Given the description of an element on the screen output the (x, y) to click on. 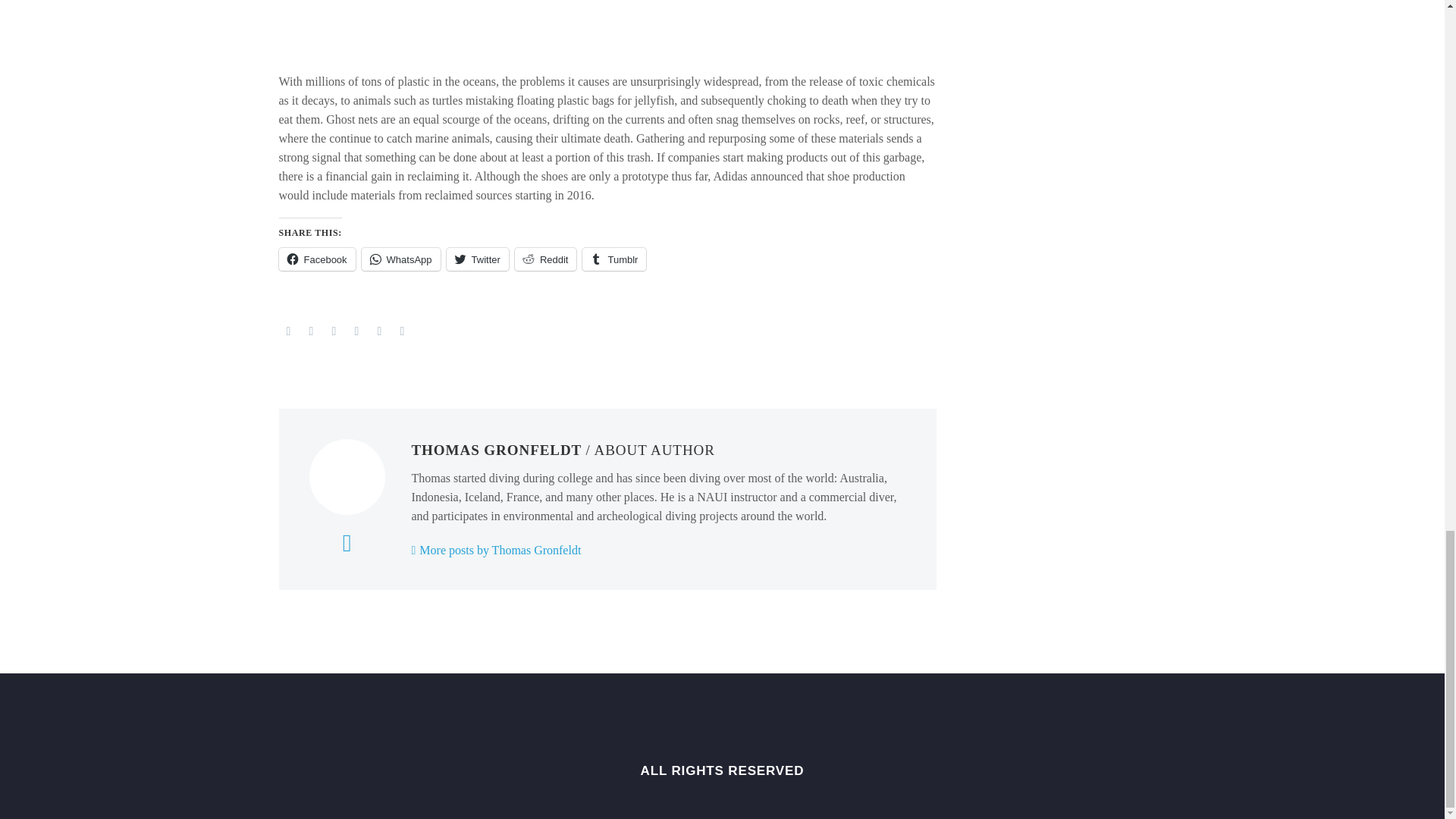
Twitter (310, 331)
Click to share on Facebook (317, 259)
Pinterest (333, 331)
LinkedIn (378, 331)
Click to share on Twitter (477, 259)
Click to share on Reddit (545, 259)
Click to share on Tumblr (614, 259)
Click to share on WhatsApp (401, 259)
Tumblr (356, 331)
Reddit (401, 331)
